Given the description of an element on the screen output the (x, y) to click on. 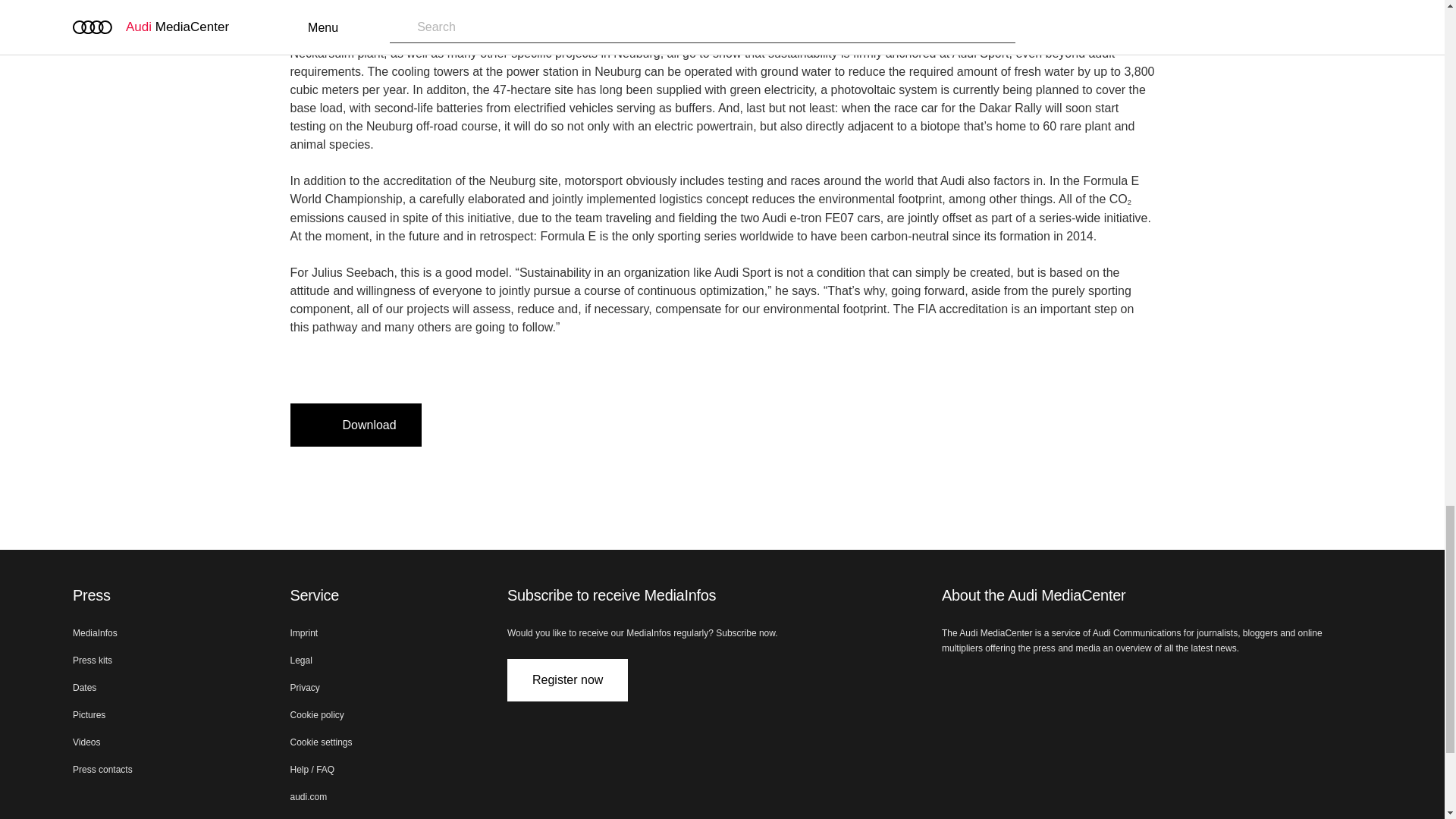
Copy MediaInfo URL (485, 424)
Facebook (1023, 683)
Add to cart (448, 424)
Audi.com (950, 683)
LinkedIn (986, 683)
Instagram (1059, 683)
Download (354, 424)
Share this page (521, 424)
YouTube (1096, 683)
Subscribe to RSS feed (1132, 683)
